Given the description of an element on the screen output the (x, y) to click on. 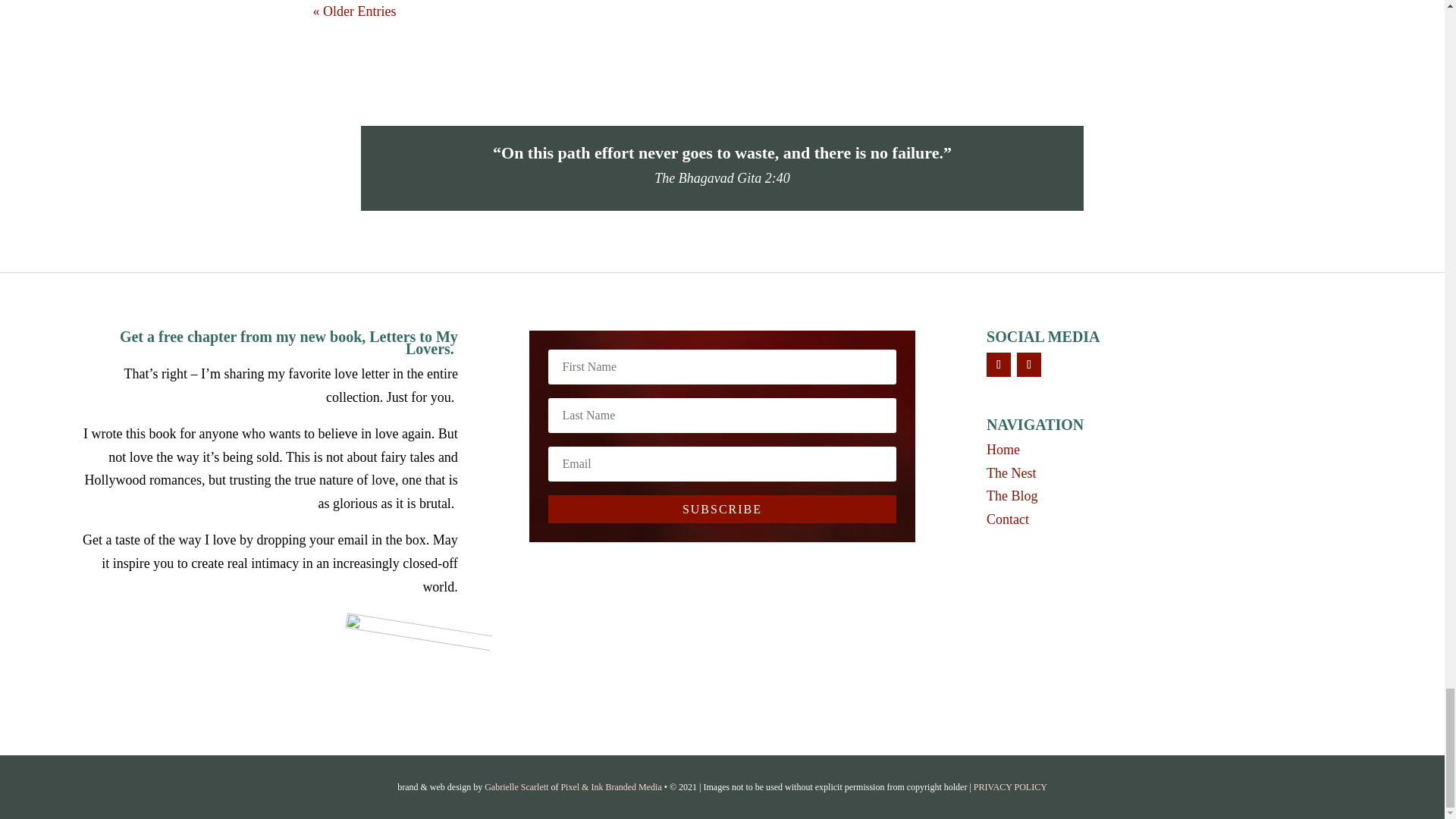
Follow on Instagram (1028, 364)
Follow on Facebook (998, 364)
Page 2 (722, 168)
Arrow (413, 633)
